Given the description of an element on the screen output the (x, y) to click on. 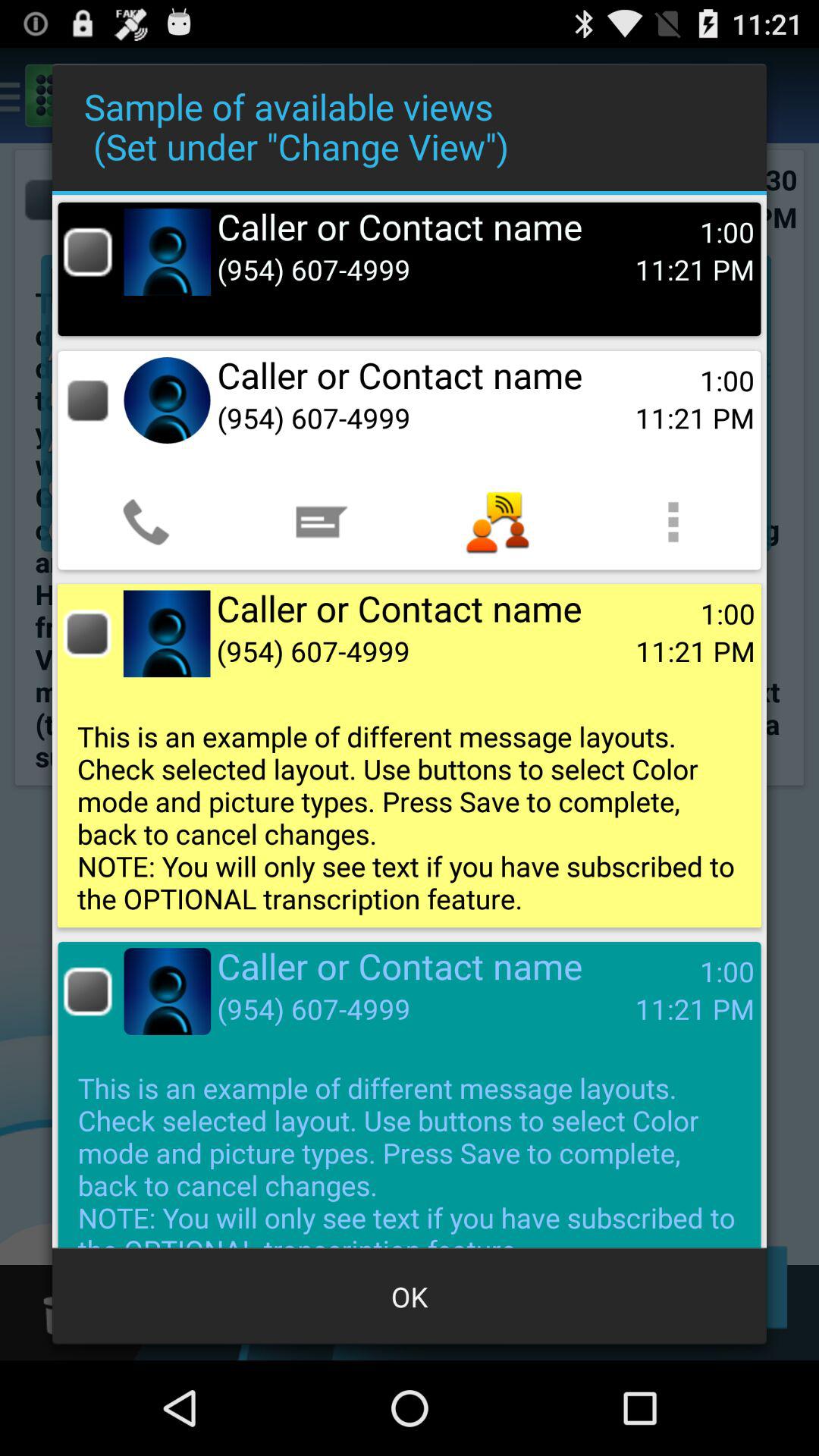
select or unselect box (87, 252)
